Given the description of an element on the screen output the (x, y) to click on. 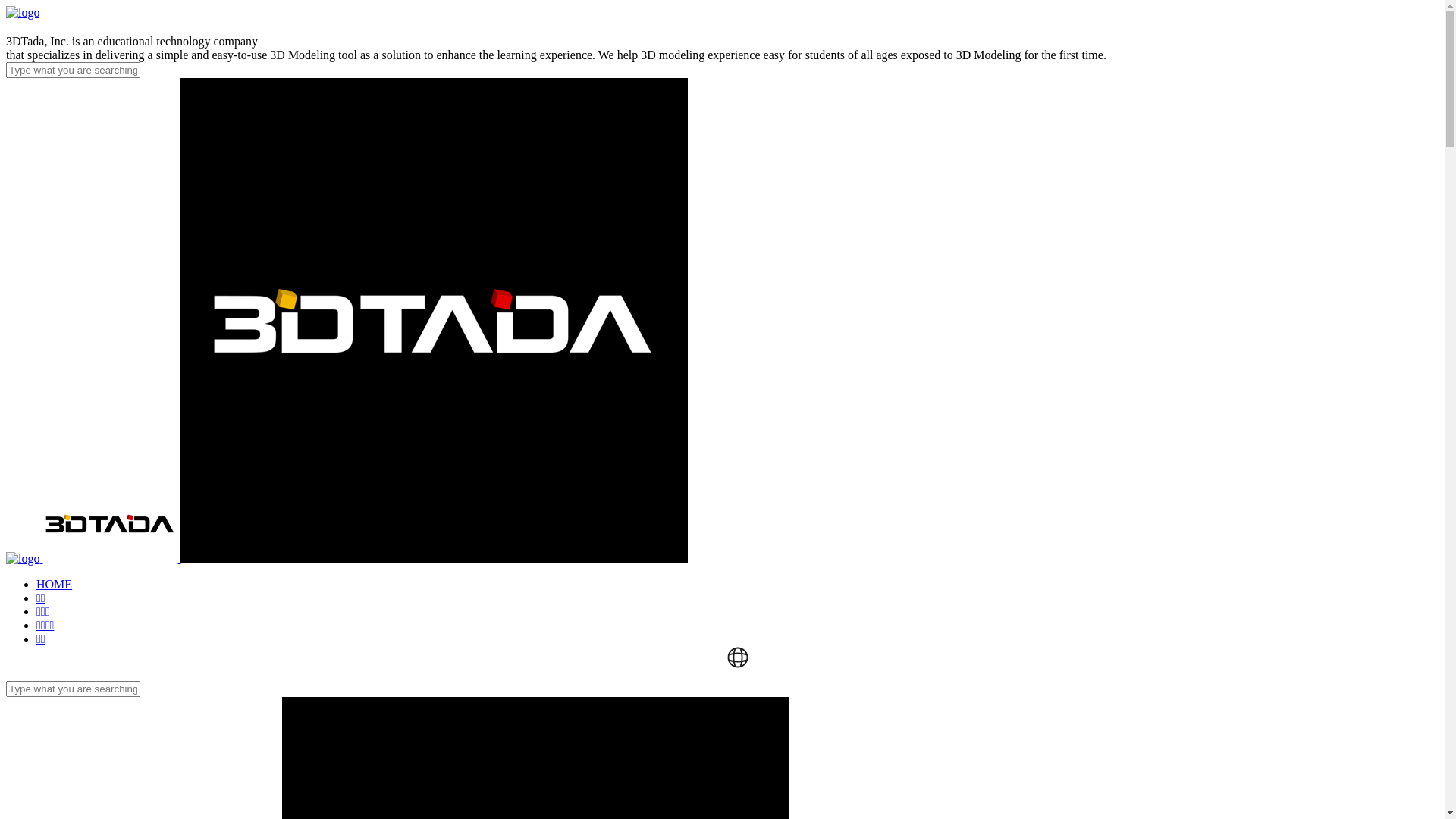
HOME Element type: text (54, 583)
